Given the description of an element on the screen output the (x, y) to click on. 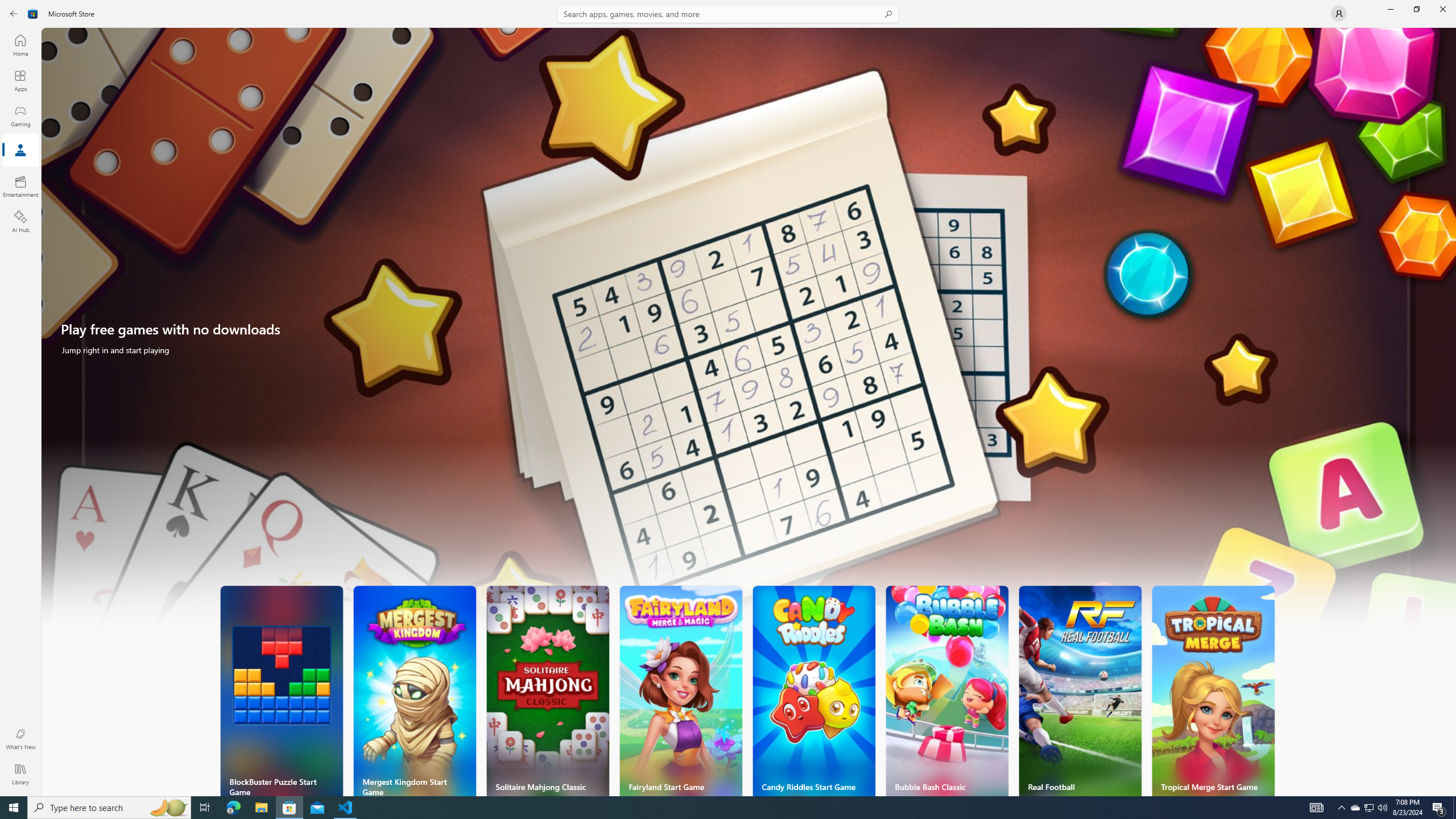
Library (20, 773)
AutomationID: HeroOverlayImage (749, 337)
Home (20, 45)
Search (727, 13)
Back (13, 13)
User profile (1338, 13)
AI Hub (20, 221)
